Given the description of an element on the screen output the (x, y) to click on. 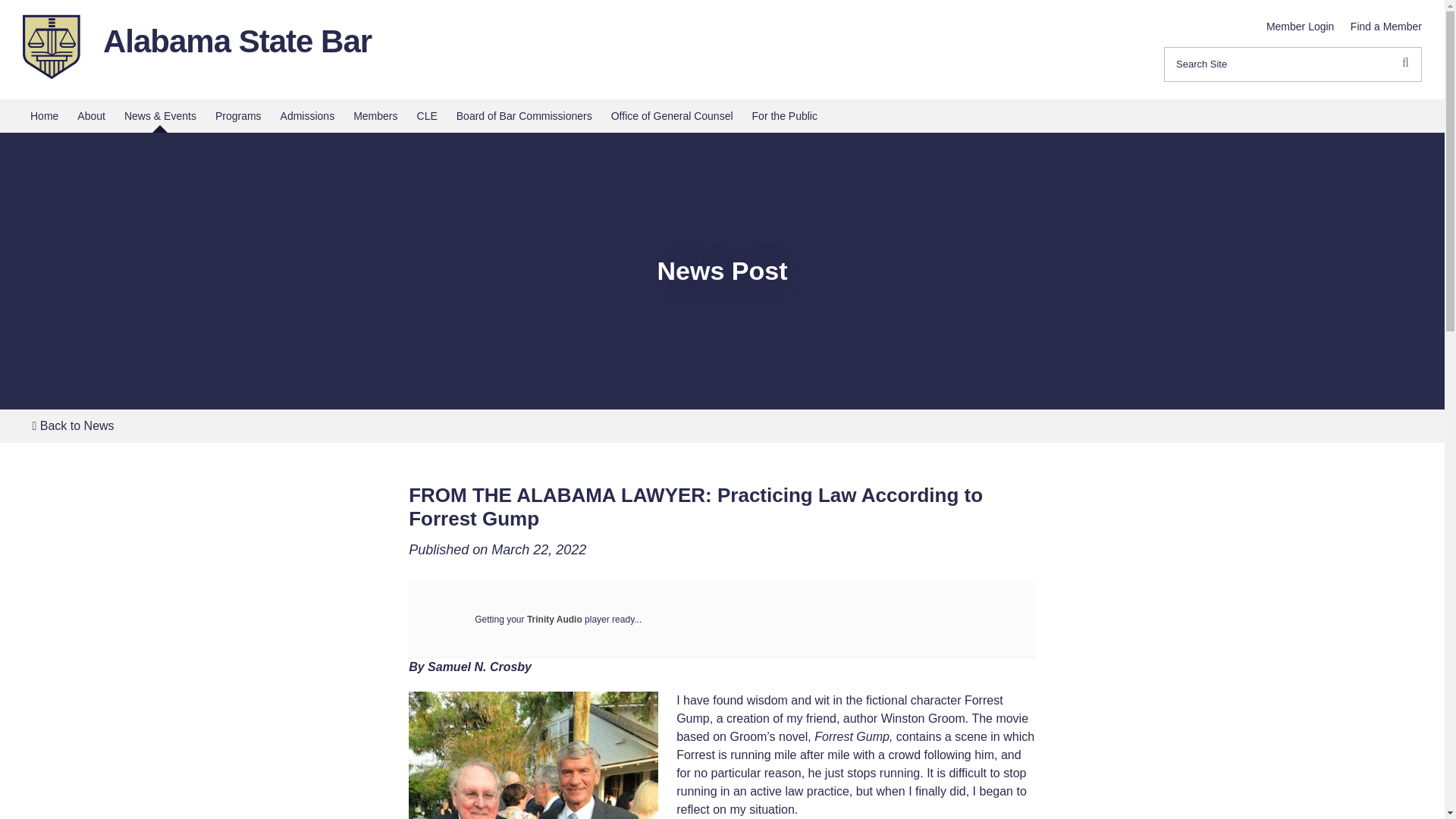
Alabama State Bar (237, 40)
Programs (238, 115)
About (91, 115)
Find a Member (1386, 26)
Member Login (1300, 26)
Home (44, 115)
